Given the description of an element on the screen output the (x, y) to click on. 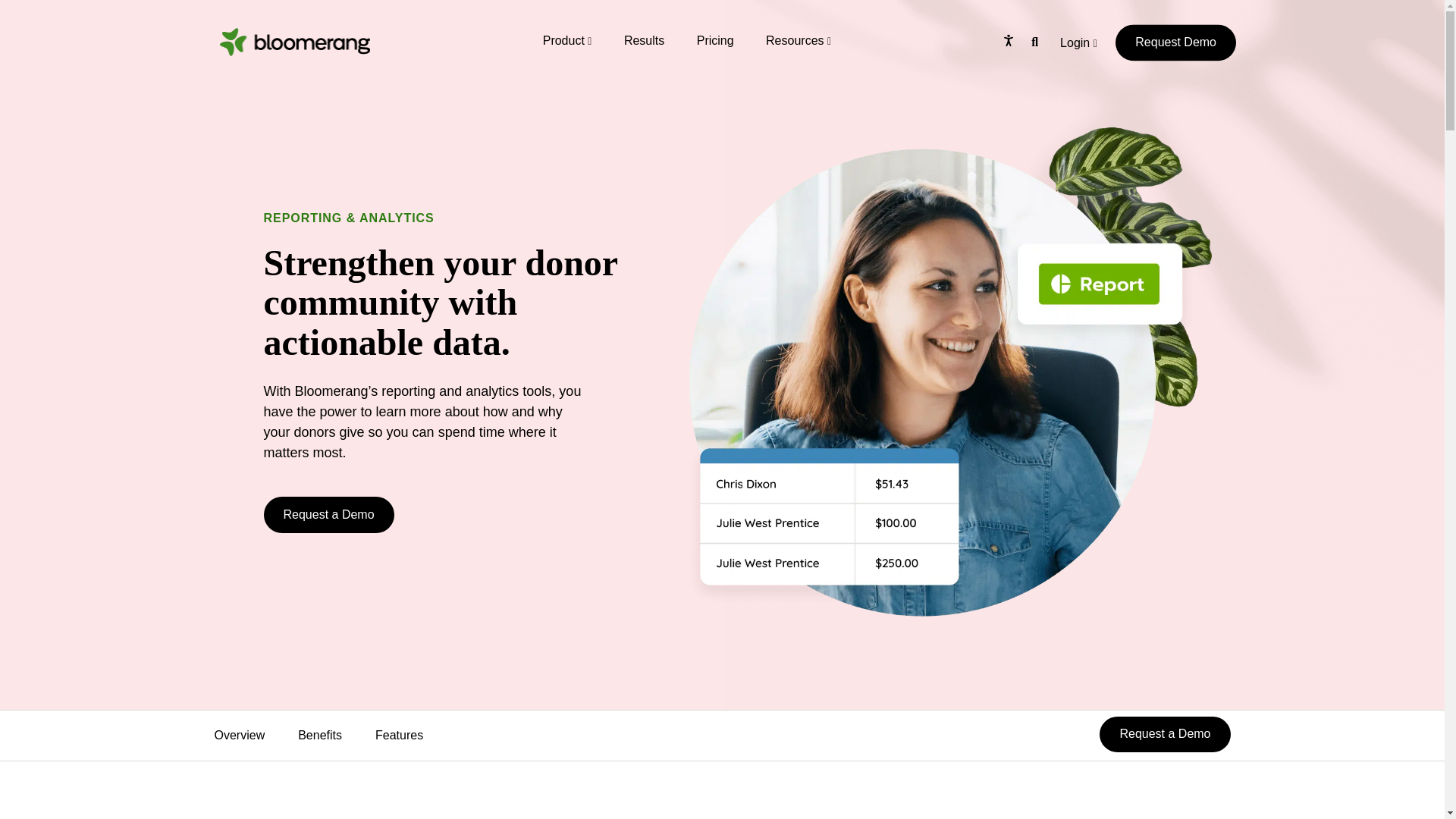
Pricing (715, 40)
Resources (798, 40)
Product (567, 40)
Request Demo (1175, 42)
Results (643, 40)
Login (1078, 50)
